Given the description of an element on the screen output the (x, y) to click on. 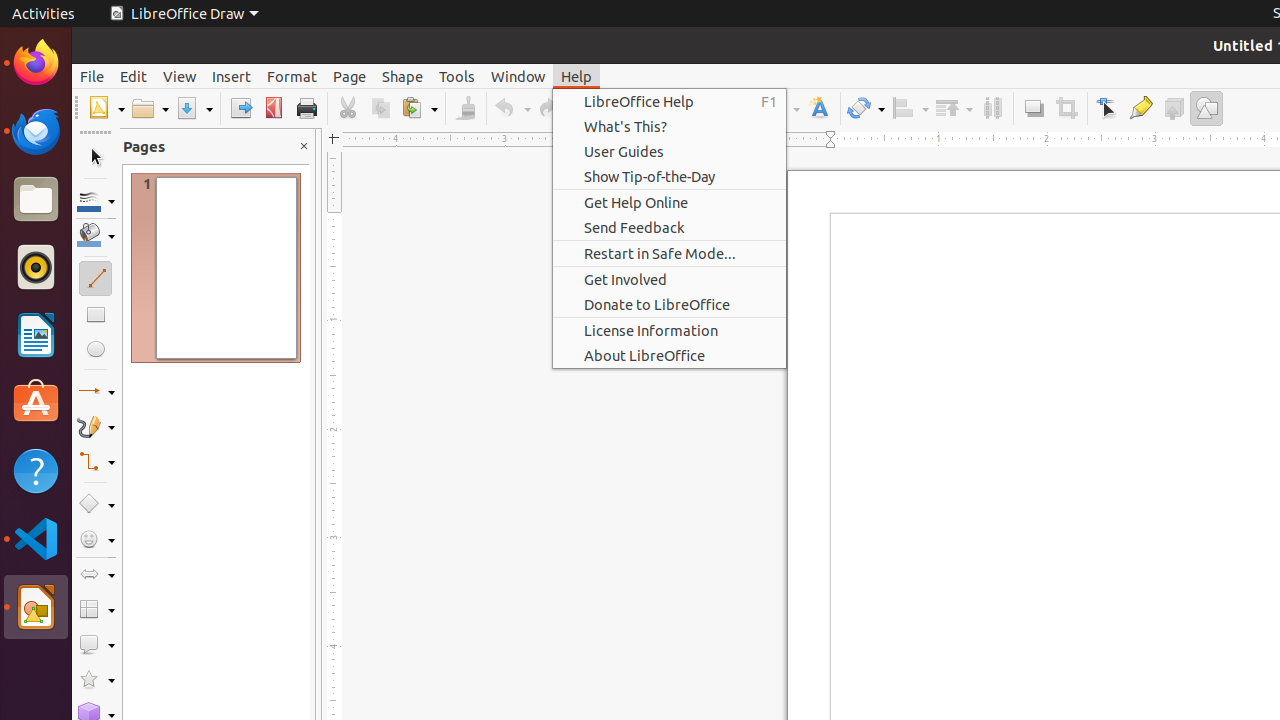
Tools Element type: menu (457, 76)
Align Element type: push-button (910, 108)
Toggle Extrusion Element type: push-button (1173, 108)
Draw Functions Element type: toggle-button (1206, 108)
Fontwork Style Element type: toggle-button (819, 108)
